Given the description of an element on the screen output the (x, y) to click on. 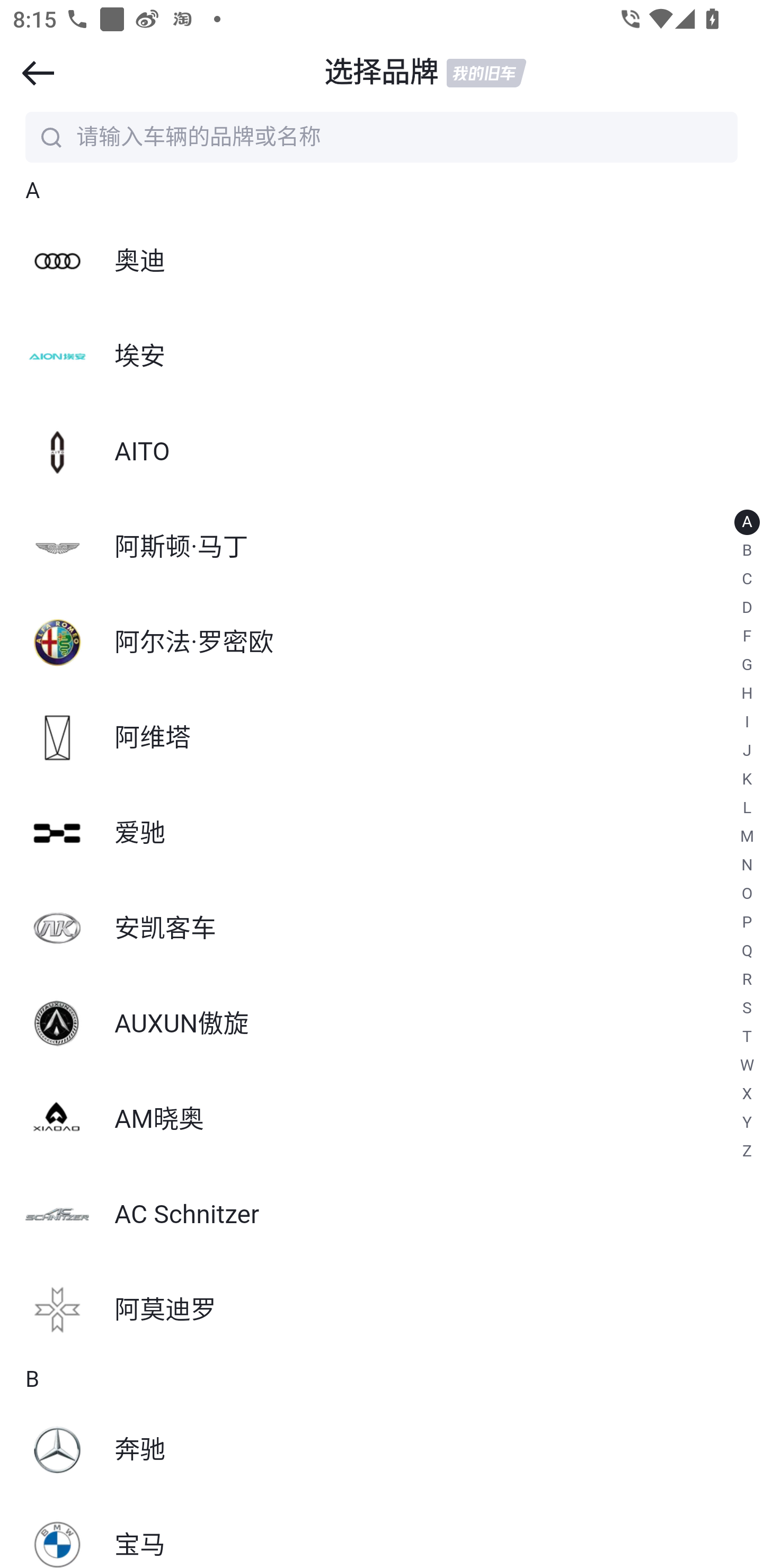
选择品牌 (381, 72)
奥迪 (381, 261)
埃安 (381, 356)
AITO (381, 451)
阿斯顿·马丁 (381, 546)
阿尔法·罗密欧 (381, 642)
阿维塔 (381, 738)
爱驰 (381, 833)
安凯客车 (381, 927)
AUXUN傲旋 (381, 1023)
AM晓奥 (381, 1119)
AC Schnitzer (381, 1214)
阿莫迪罗 (381, 1310)
奔驰 (381, 1450)
宝马 (381, 1532)
